Given the description of an element on the screen output the (x, y) to click on. 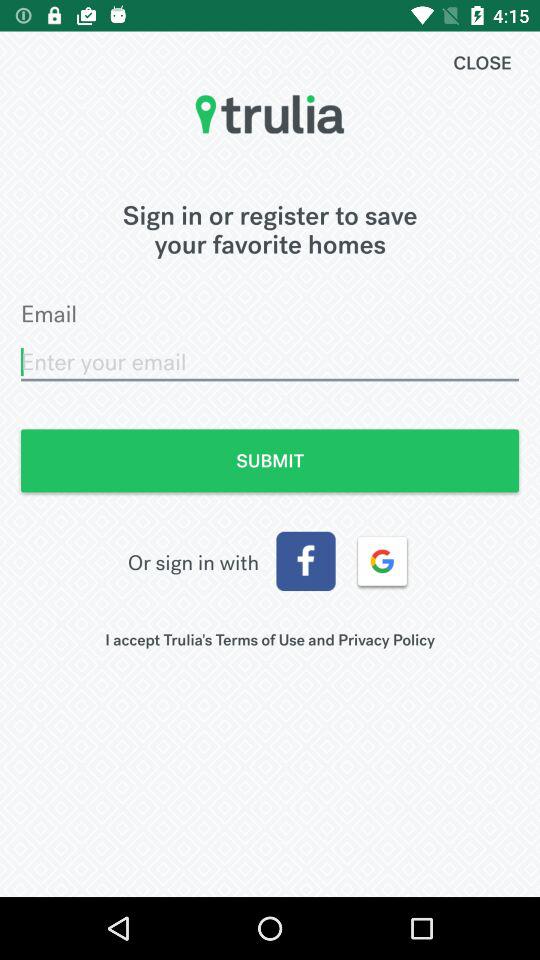
click the item above submit item (269, 362)
